Given the description of an element on the screen output the (x, y) to click on. 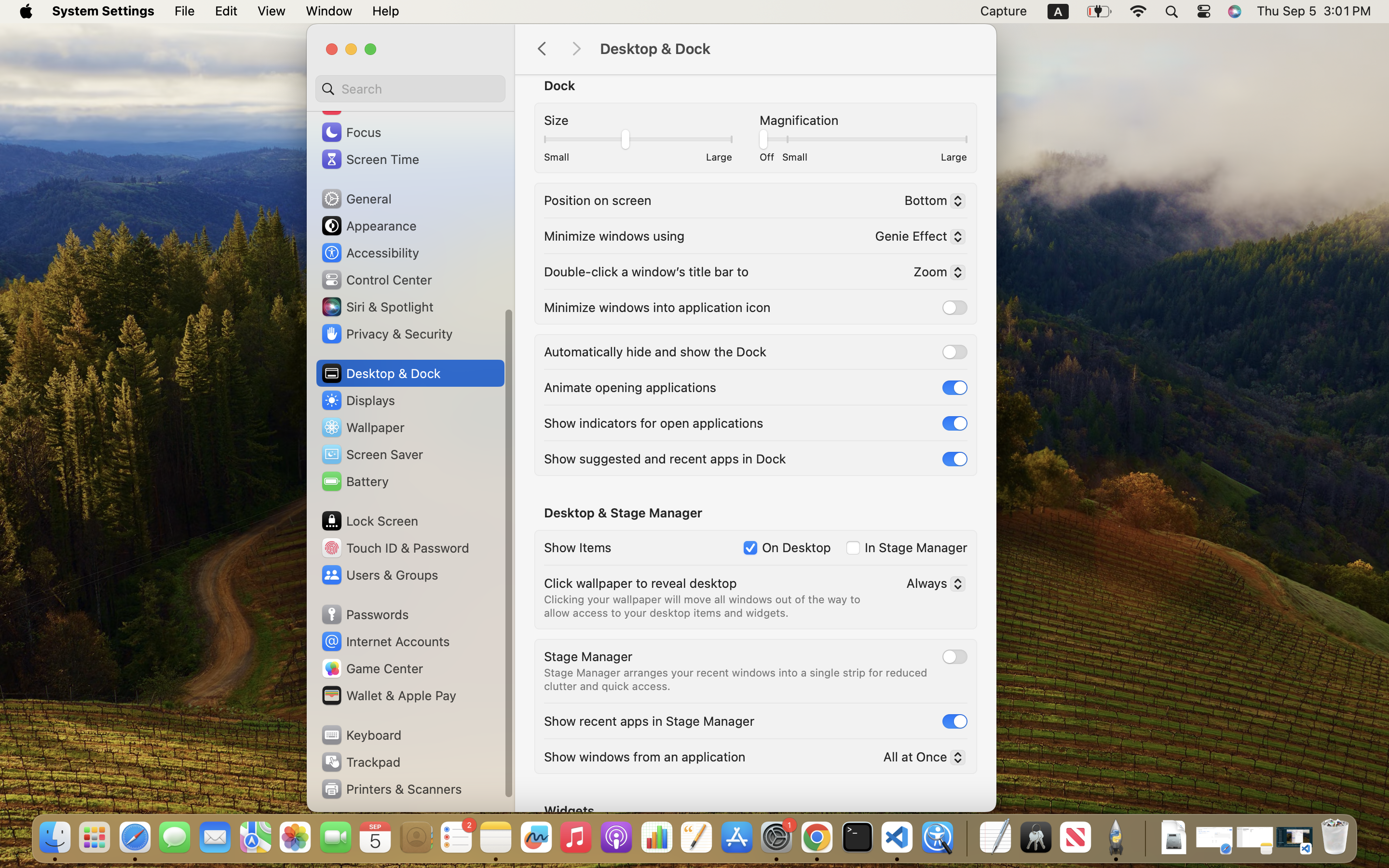
Minimize windows using Element type: AXStaticText (614, 235)
Click wallpaper to reveal desktop Element type: AXStaticText (640, 582)
Show windows from an application Element type: AXStaticText (644, 755)
Clicking your wallpaper will move all windows out of the way to allow access to your desktop items and widgets. Element type: AXStaticText (703, 605)
Privacy & Security Element type: AXStaticText (386, 333)
